Given the description of an element on the screen output the (x, y) to click on. 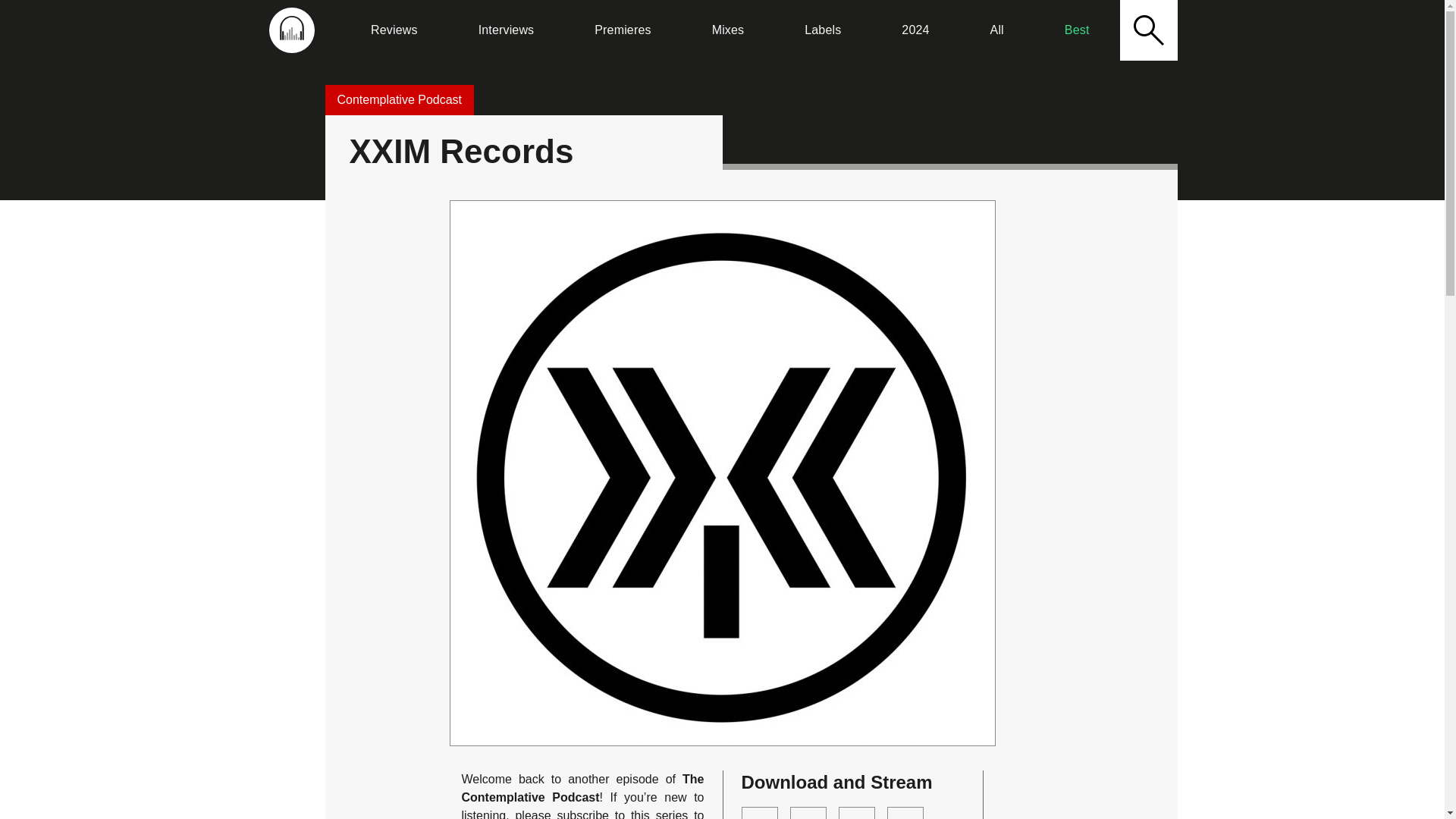
Apple (856, 812)
Premieres (622, 30)
Best (1077, 30)
2024 (914, 30)
Labels (822, 30)
Mixes (728, 30)
Interviews (505, 30)
Podcast (904, 812)
Spotify (808, 812)
Reviews (394, 30)
Download (759, 812)
Contemplative Podcast (399, 100)
